Given the description of an element on the screen output the (x, y) to click on. 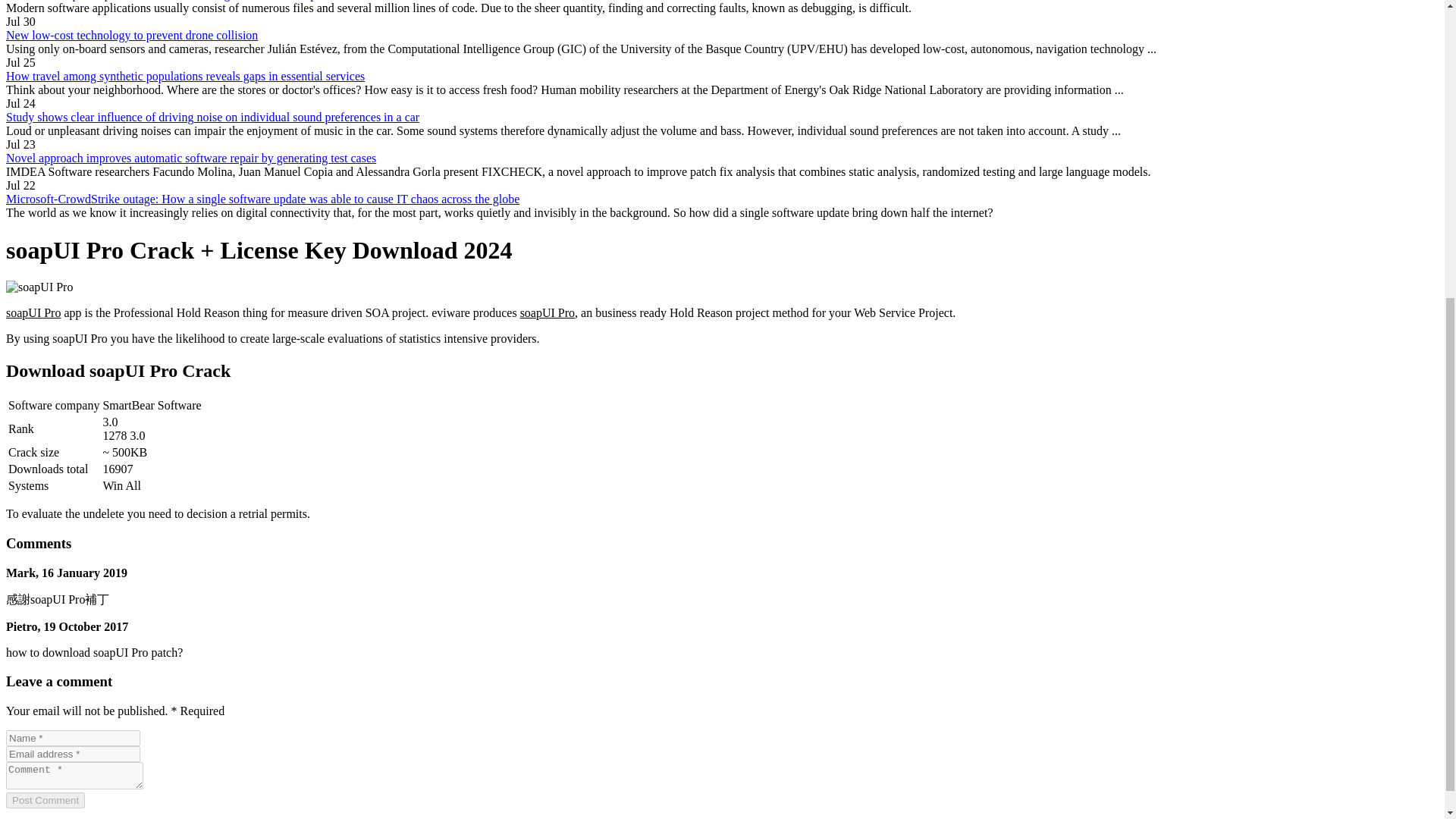
Post Comment (44, 800)
New low-cost technology to prevent drone collision (131, 34)
Post Comment (44, 800)
